Given the description of an element on the screen output the (x, y) to click on. 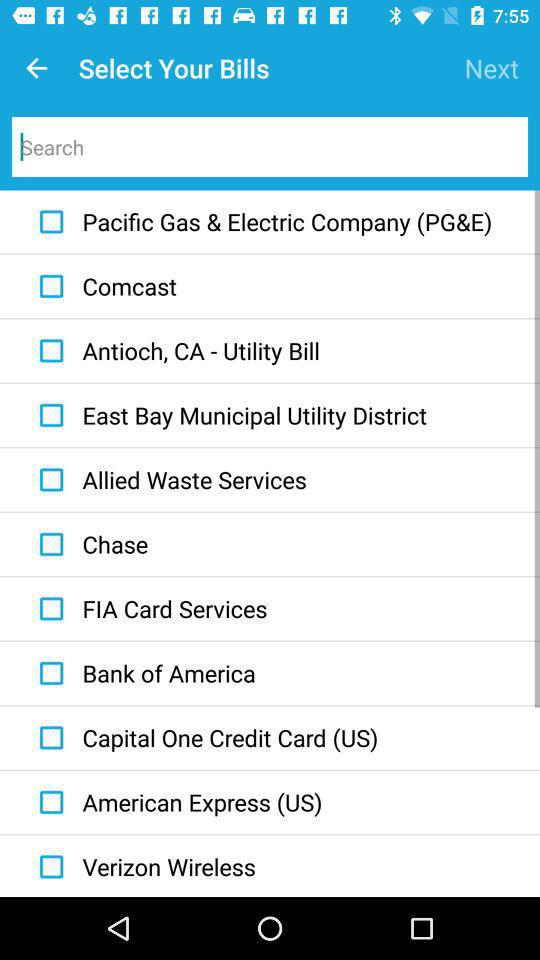
open the next item (491, 67)
